Given the description of an element on the screen output the (x, y) to click on. 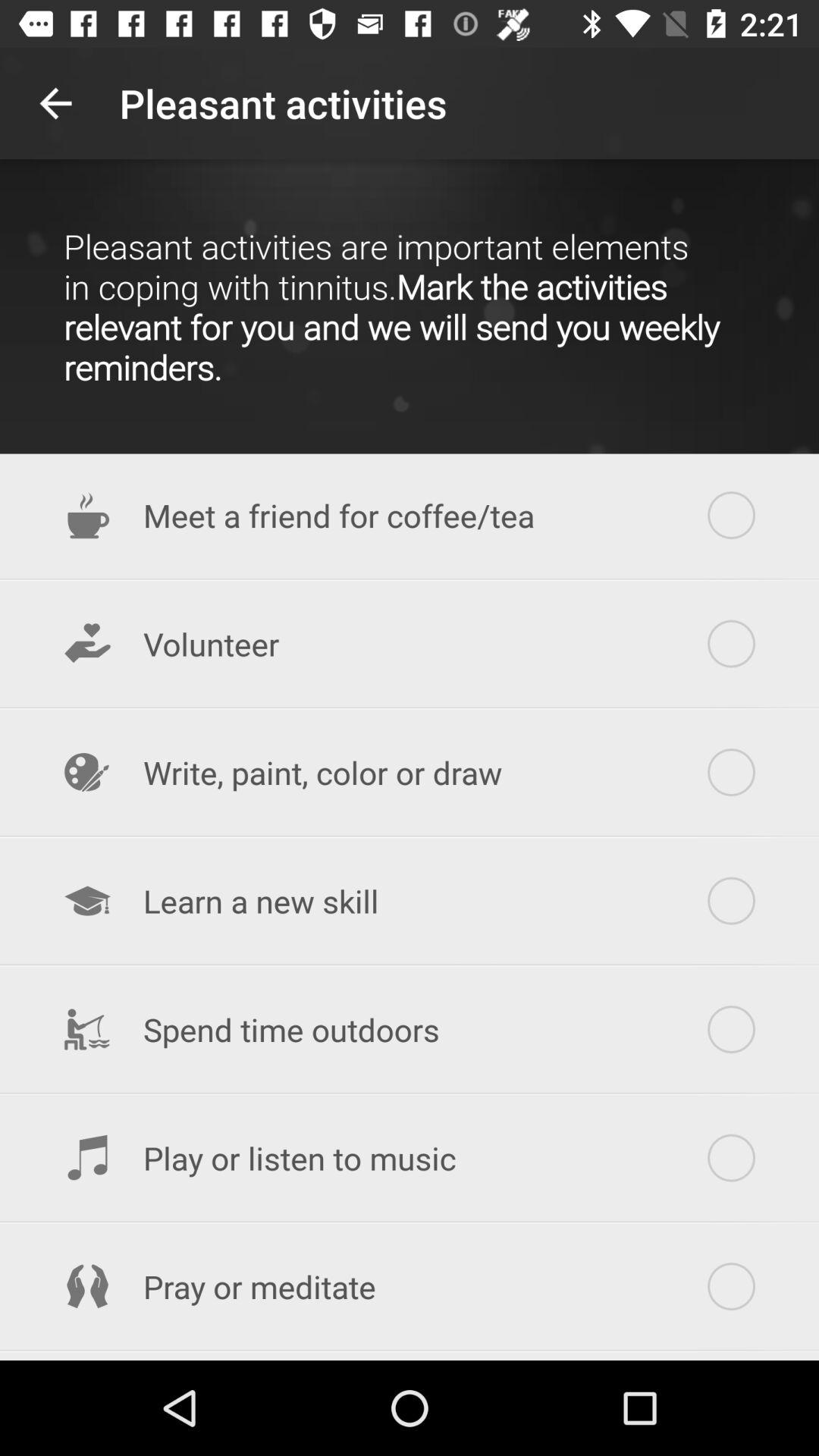
launch volunteer (409, 643)
